Given the description of an element on the screen output the (x, y) to click on. 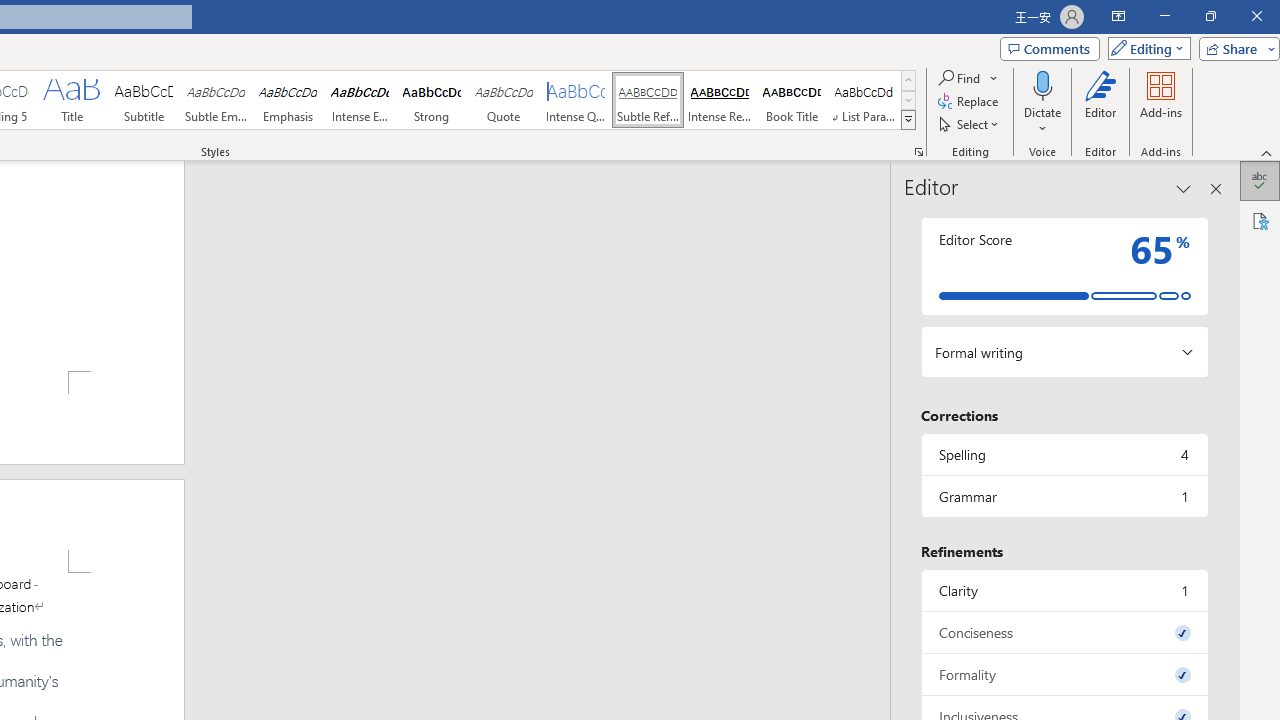
Row up (908, 79)
Title (71, 100)
Subtle Emphasis (216, 100)
Task Pane Options (1183, 188)
Conciseness, 0 issues. Press space or enter to review items. (1064, 632)
Formality, 0 issues. Press space or enter to review items. (1064, 673)
Intense Reference (719, 100)
Strong (431, 100)
Row Down (908, 100)
Editor (1260, 180)
Book Title (792, 100)
